Given the description of an element on the screen output the (x, y) to click on. 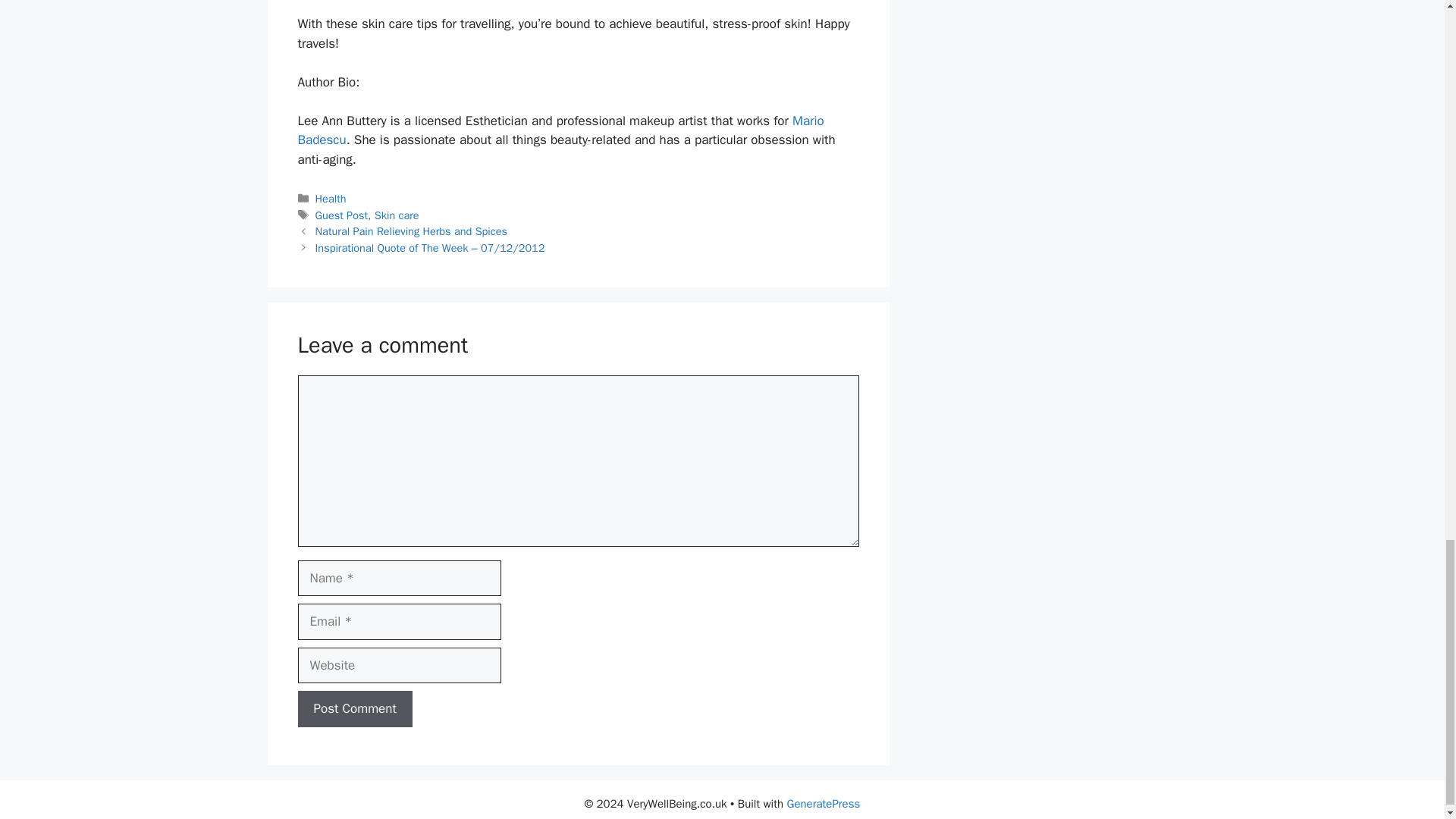
Skin care (396, 214)
Guest Post (341, 214)
Post Comment (354, 709)
Mario Badescu (560, 130)
GeneratePress (823, 803)
Natural Pain Relieving Herbs and Spices (410, 231)
Health (330, 198)
Post Comment (354, 709)
